Given the description of an element on the screen output the (x, y) to click on. 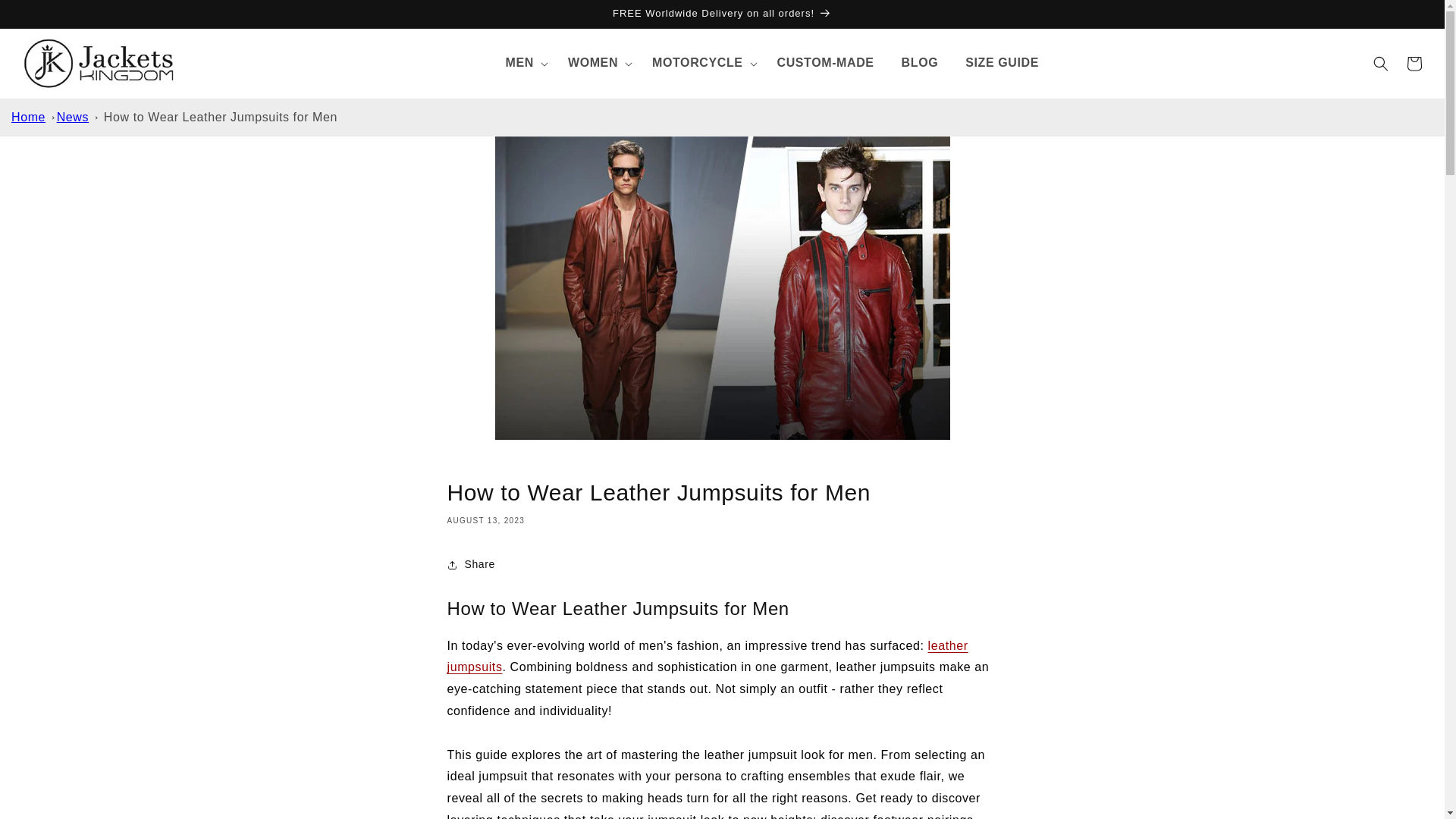
Skip to content (45, 17)
